Given the description of an element on the screen output the (x, y) to click on. 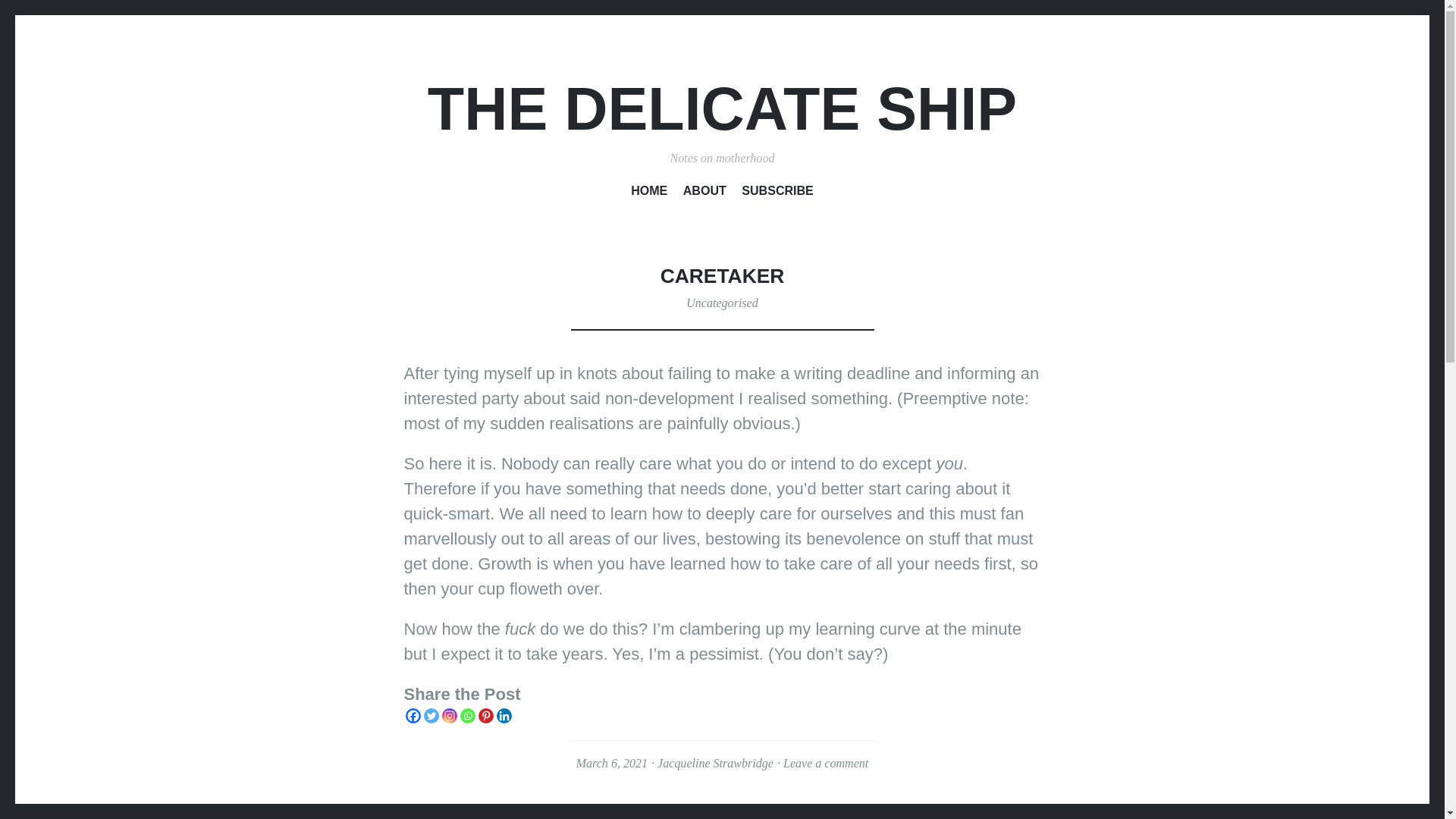
Twitter (430, 715)
Linkedin (503, 715)
Instagram (449, 715)
Uncategorised (721, 302)
Pinterest (485, 715)
March 6, 2021 (611, 762)
Facebook (412, 715)
Jacqueline Strawbridge (715, 762)
Leave a comment (825, 762)
